Given the description of an element on the screen output the (x, y) to click on. 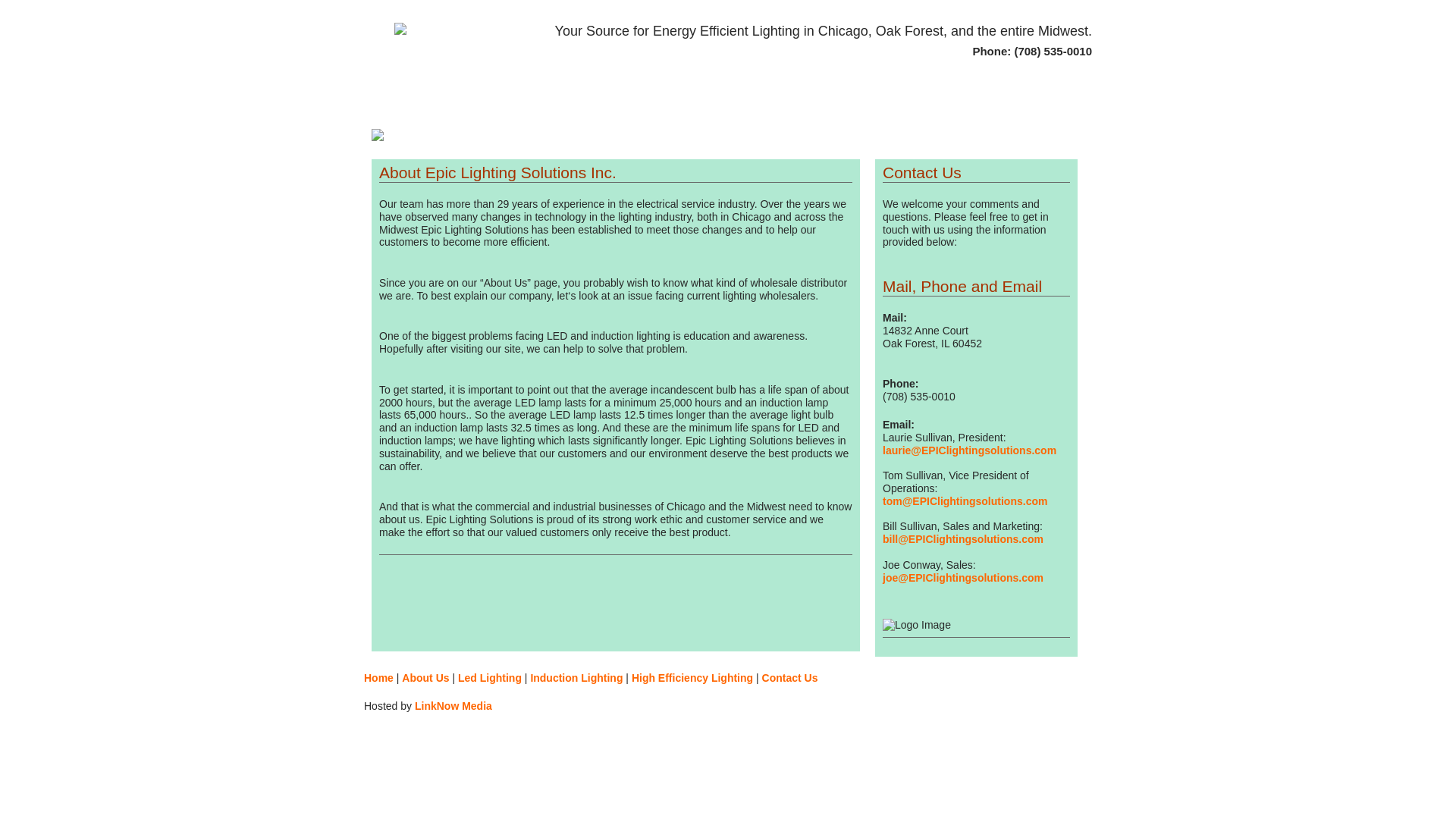
About Us (424, 677)
Induction Lighting (576, 677)
About Epic Lighting Solutions Inc. (424, 677)
LinkNow Media (453, 705)
Chicago Induction Lighting (576, 677)
LED Lighting (543, 104)
Chicago Electrician About Us (464, 104)
Chicago Induction Lighting (641, 104)
Contact Us (789, 677)
Led Lighting (489, 677)
Home (378, 677)
Home (399, 104)
Contact Epic Lighting Solutions Inc. (868, 104)
Chicago high efficiency Lighting (691, 677)
Chicago high efficiency Lighting (763, 104)
